Given the description of an element on the screen output the (x, y) to click on. 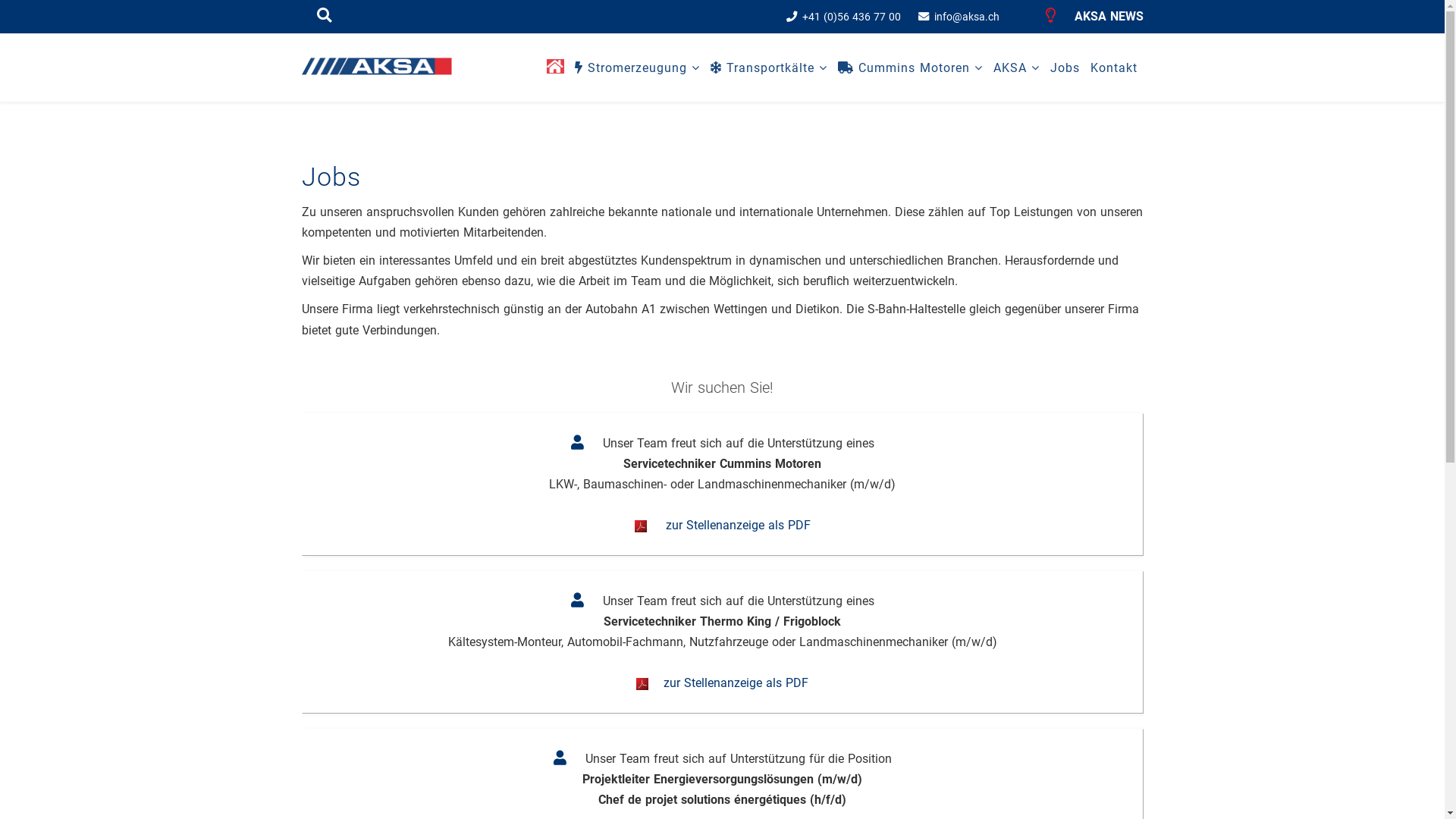
AKSA NEWS Element type: text (1093, 16)
zur Stellenanzeige als PDF Element type: text (721, 524)
info@aksa.ch Element type: text (966, 16)
AKSA Element type: text (1016, 67)
Cummins Motoren Element type: text (909, 67)
+41 (0)56 436 77 00 Element type: text (851, 16)
zur Stellenanzeige als PDF Element type: text (722, 682)
Kontakt Element type: text (1113, 68)
Jobs Element type: text (1063, 68)
Stromerzeugung Element type: text (637, 67)
